Given the description of an element on the screen output the (x, y) to click on. 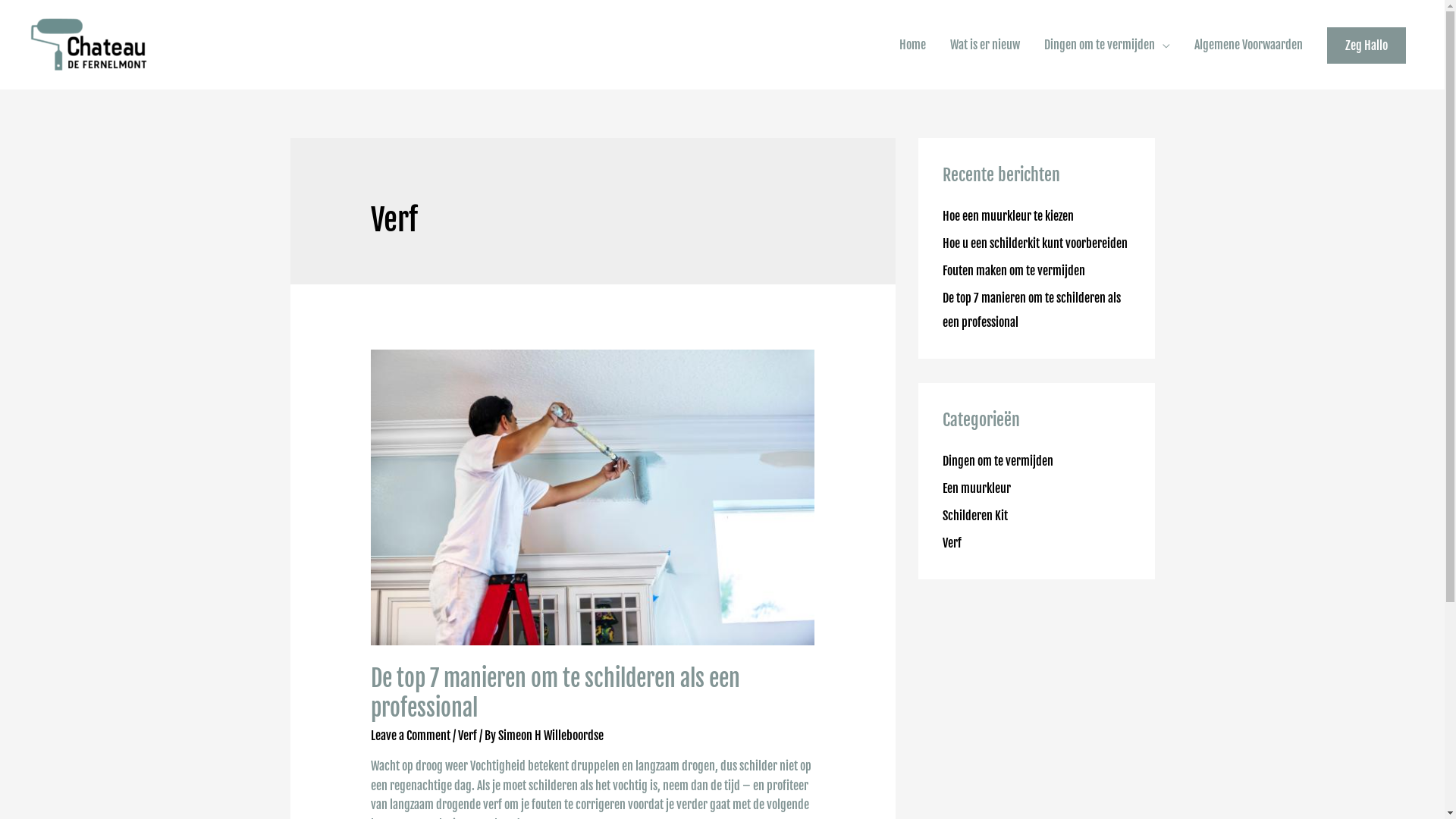
Een muurkleur Element type: text (975, 487)
Wat is er nieuw Element type: text (985, 44)
Simeon H Willeboordse Element type: text (550, 735)
Hoe een muurkleur te kiezen Element type: text (1007, 215)
Schilderen Kit Element type: text (974, 515)
Dingen om te vermijden Element type: text (996, 460)
Home Element type: text (912, 44)
De top 7 manieren om te schilderen als een professional Element type: text (1030, 309)
Zeg Hallo Element type: text (1366, 45)
Verf Element type: text (950, 542)
Hoe u een schilderkit kunt voorbereiden Element type: text (1033, 243)
De top 7 manieren om te schilderen als een professional Element type: text (555, 692)
Algemene Voorwaarden Element type: text (1248, 44)
Dingen om te vermijden Element type: text (1107, 44)
Verf Element type: text (467, 735)
Fouten maken om te vermijden Element type: text (1012, 270)
Leave a Comment Element type: text (410, 735)
